Given the description of an element on the screen output the (x, y) to click on. 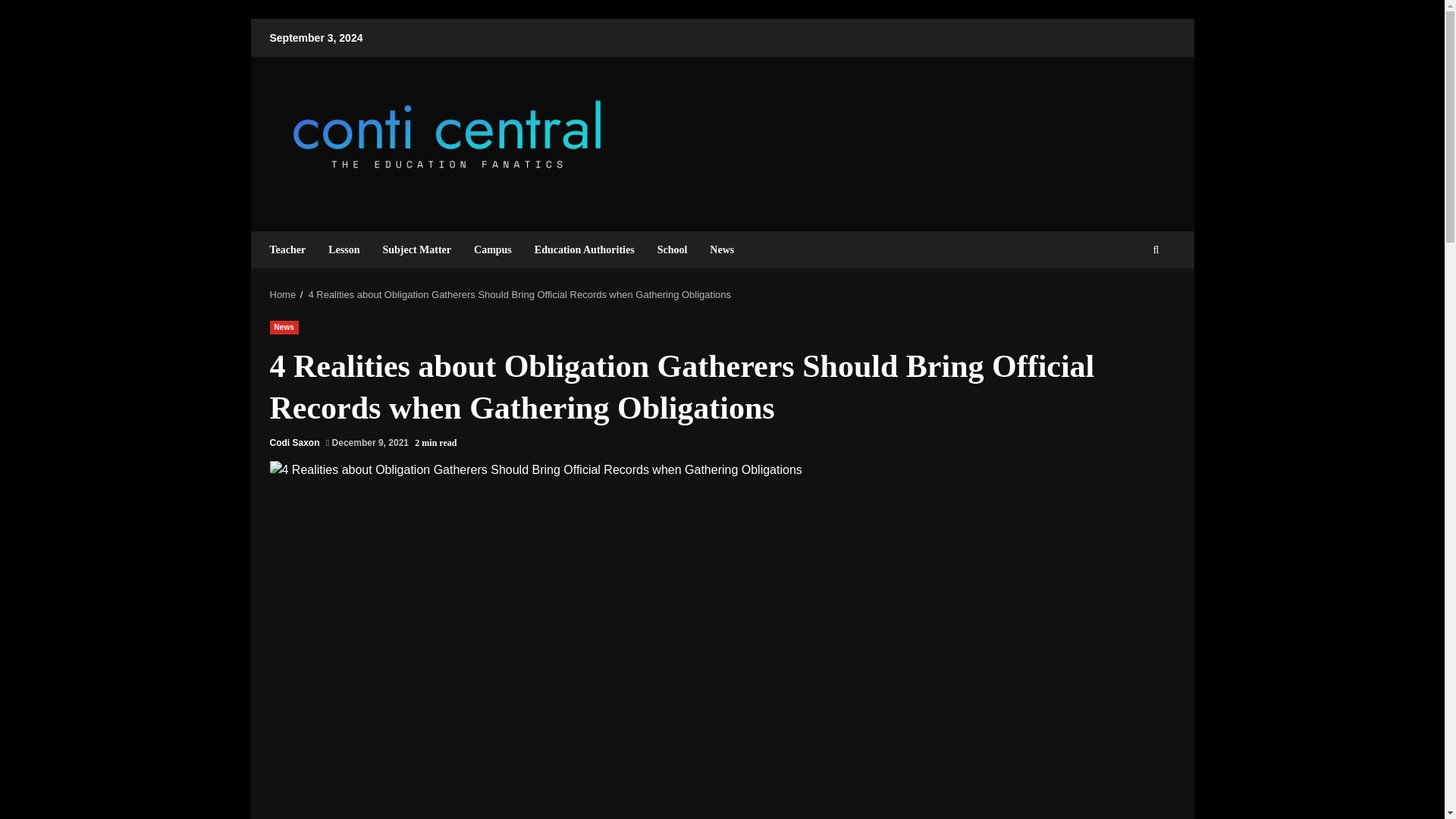
School (672, 249)
Search (1128, 296)
Home (283, 294)
Education Authorities (584, 249)
Codi Saxon (294, 442)
Subject Matter (417, 249)
News (284, 327)
Lesson (344, 249)
